Given the description of an element on the screen output the (x, y) to click on. 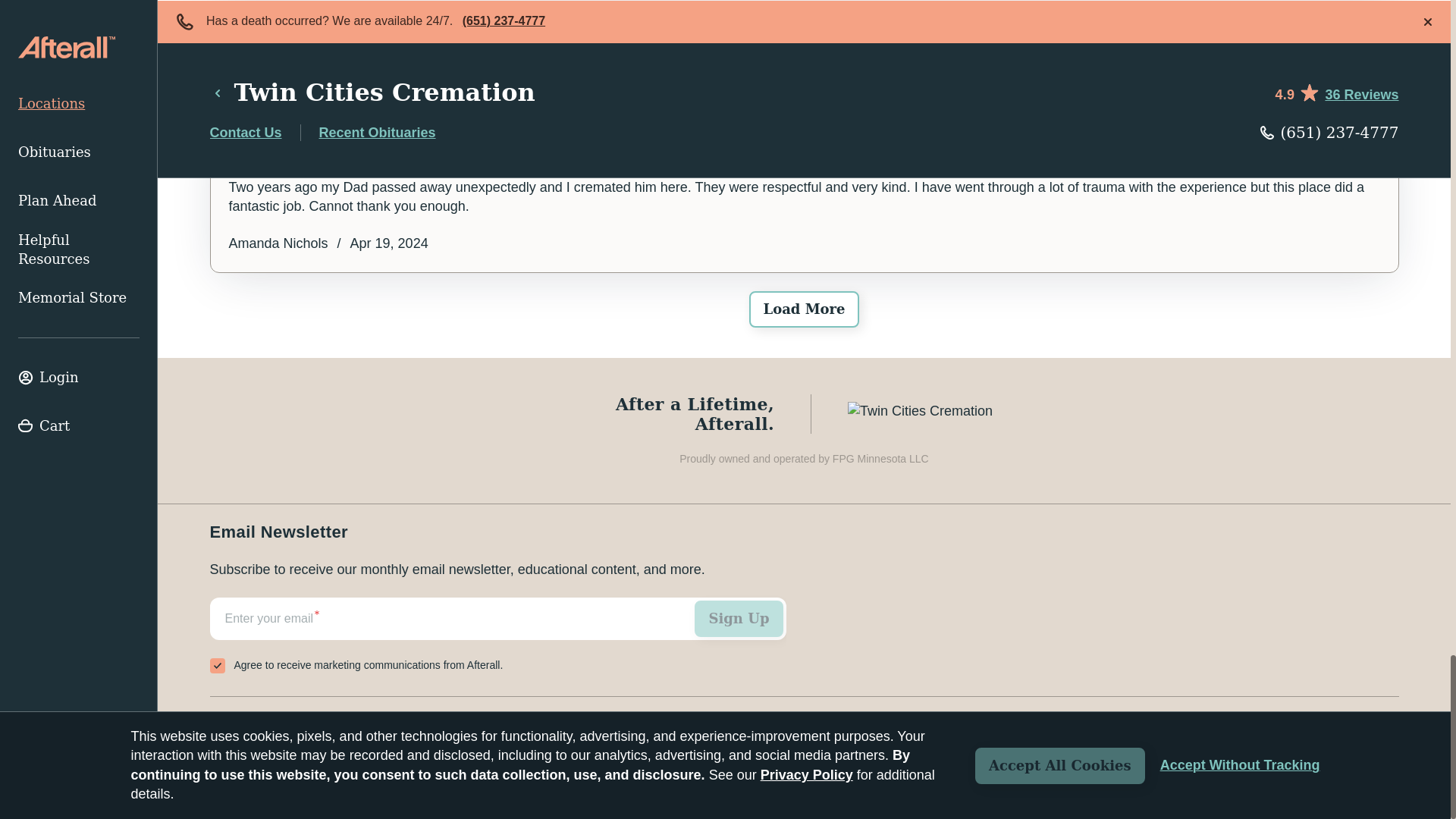
5 out of 5 Customer Rating (804, 150)
5 out of 5 Customer Rating (804, 39)
